Given the description of an element on the screen output the (x, y) to click on. 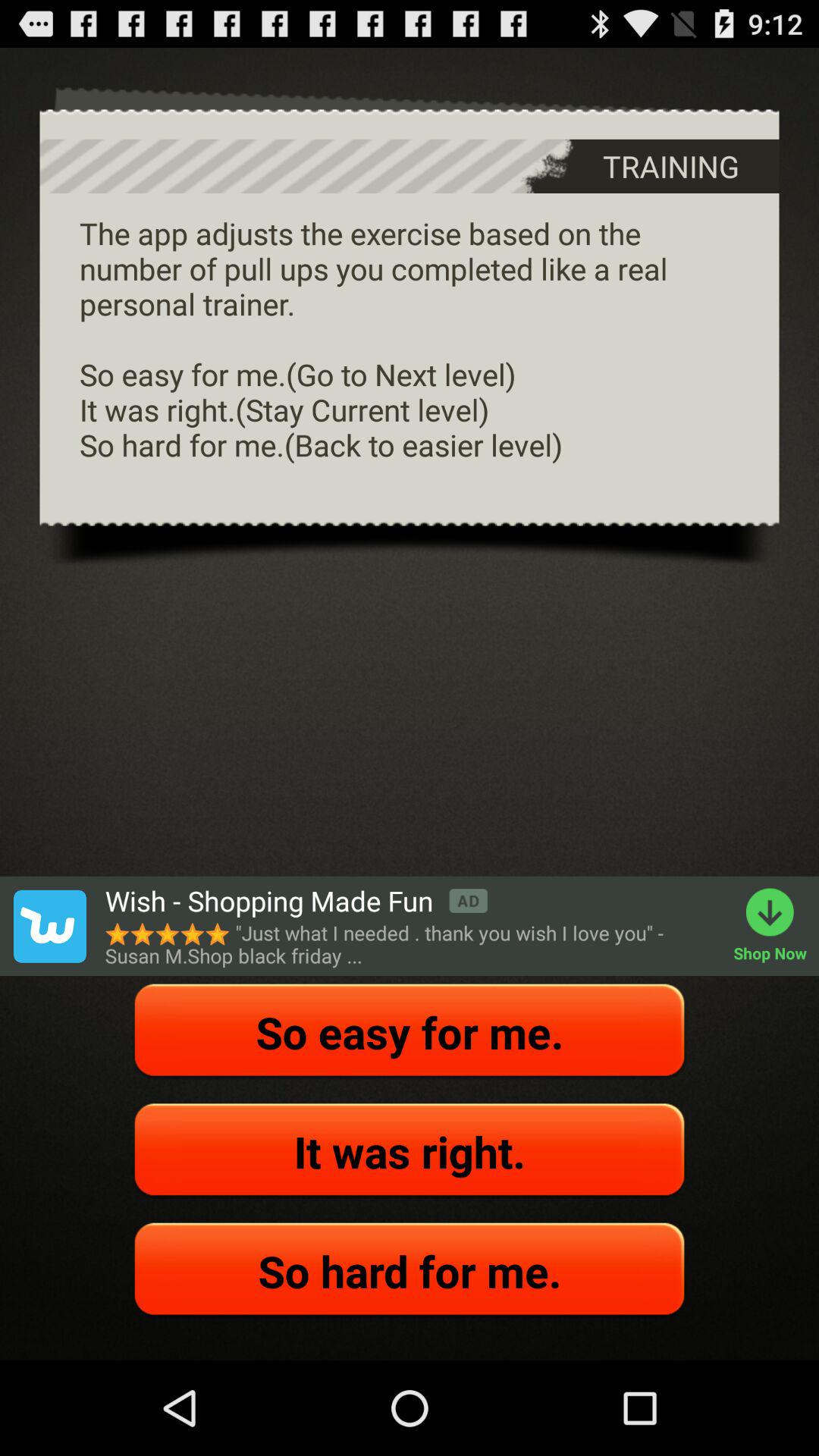
click the icon to the left of the shop now app (411, 944)
